Given the description of an element on the screen output the (x, y) to click on. 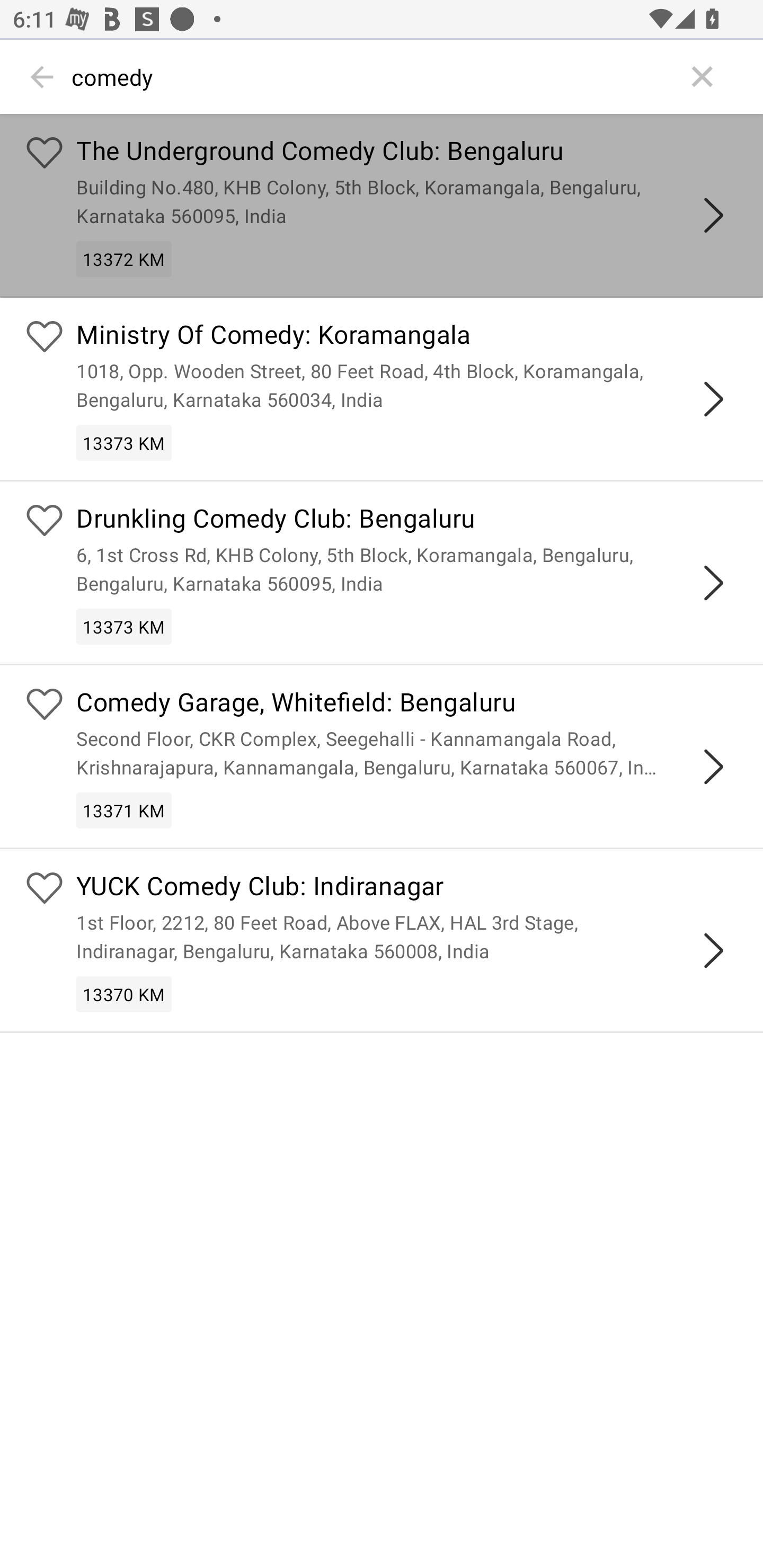
Back (42, 76)
comedy (373, 76)
Close (702, 76)
Ministry Of Comedy: Koramangala (406, 336)
 (713, 398)
13373 KM (123, 442)
Drunkling Comedy Club: Bengaluru (406, 520)
 (713, 582)
13373 KM (123, 626)
Comedy Garage, Whitefield: Bengaluru (406, 703)
 (713, 766)
13371 KM (123, 809)
YUCK Comedy Club: Indiranagar (406, 888)
 (713, 950)
13370 KM (123, 994)
